Given the description of an element on the screen output the (x, y) to click on. 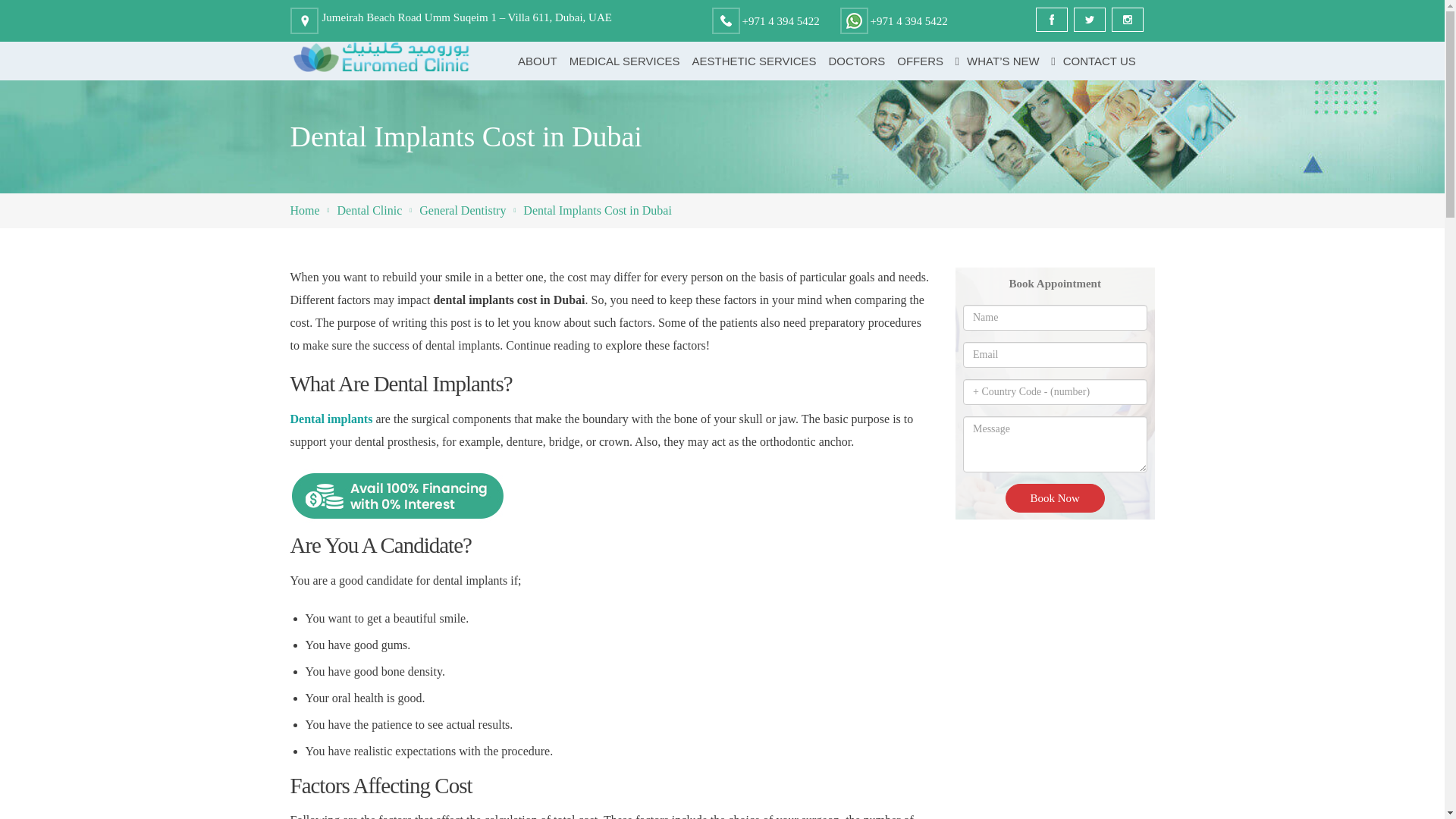
ABOUT (537, 60)
About Euromed Clinic (537, 60)
Medical Services in Dubai (624, 60)
Book Now (1055, 498)
MEDICAL SERVICES (624, 60)
